Given the description of an element on the screen output the (x, y) to click on. 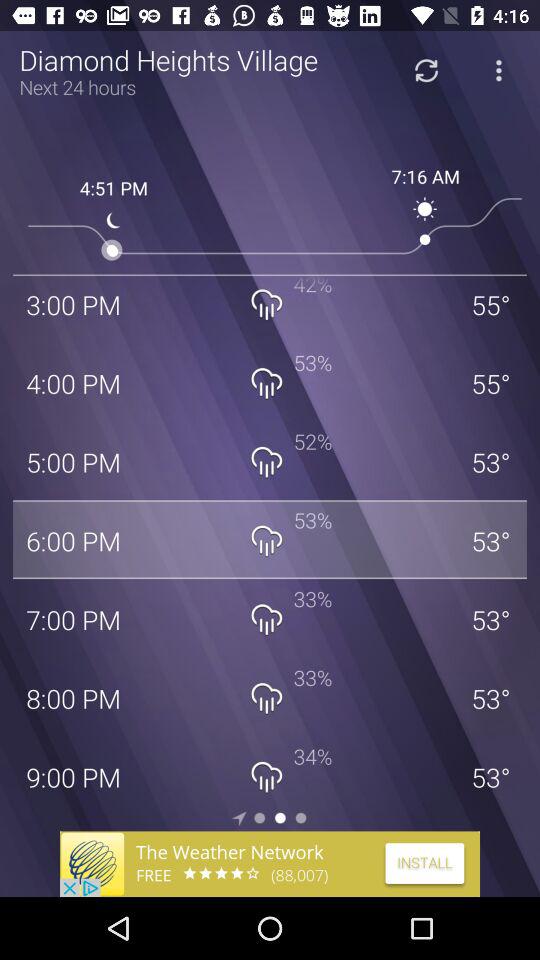
reload (426, 70)
